Given the description of an element on the screen output the (x, y) to click on. 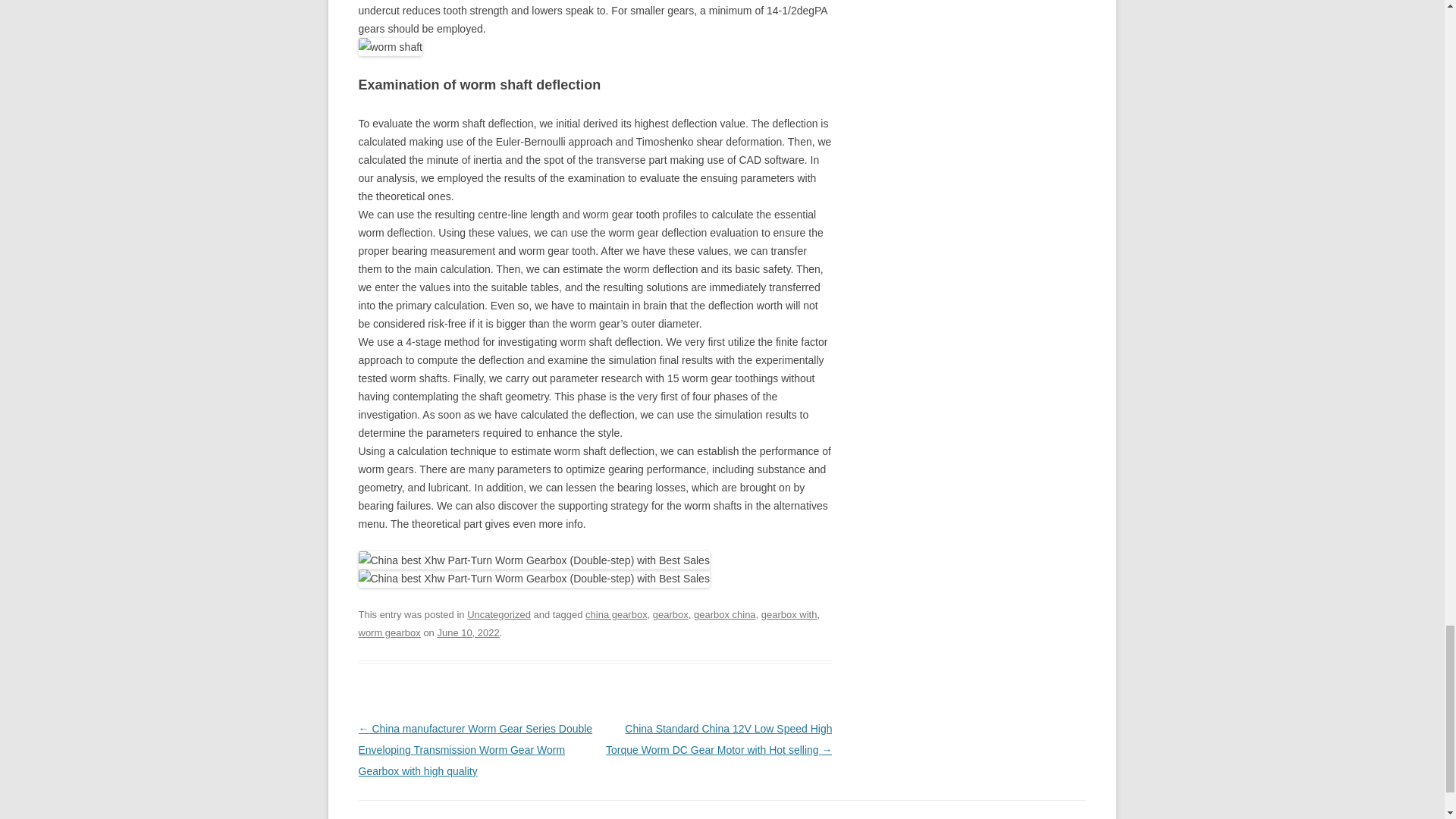
7:44 am (467, 632)
worm gearbox (389, 632)
gearbox with (788, 614)
gearbox (670, 614)
Uncategorized (499, 614)
gearbox china (724, 614)
china gearbox (616, 614)
June 10, 2022 (467, 632)
